Given the description of an element on the screen output the (x, y) to click on. 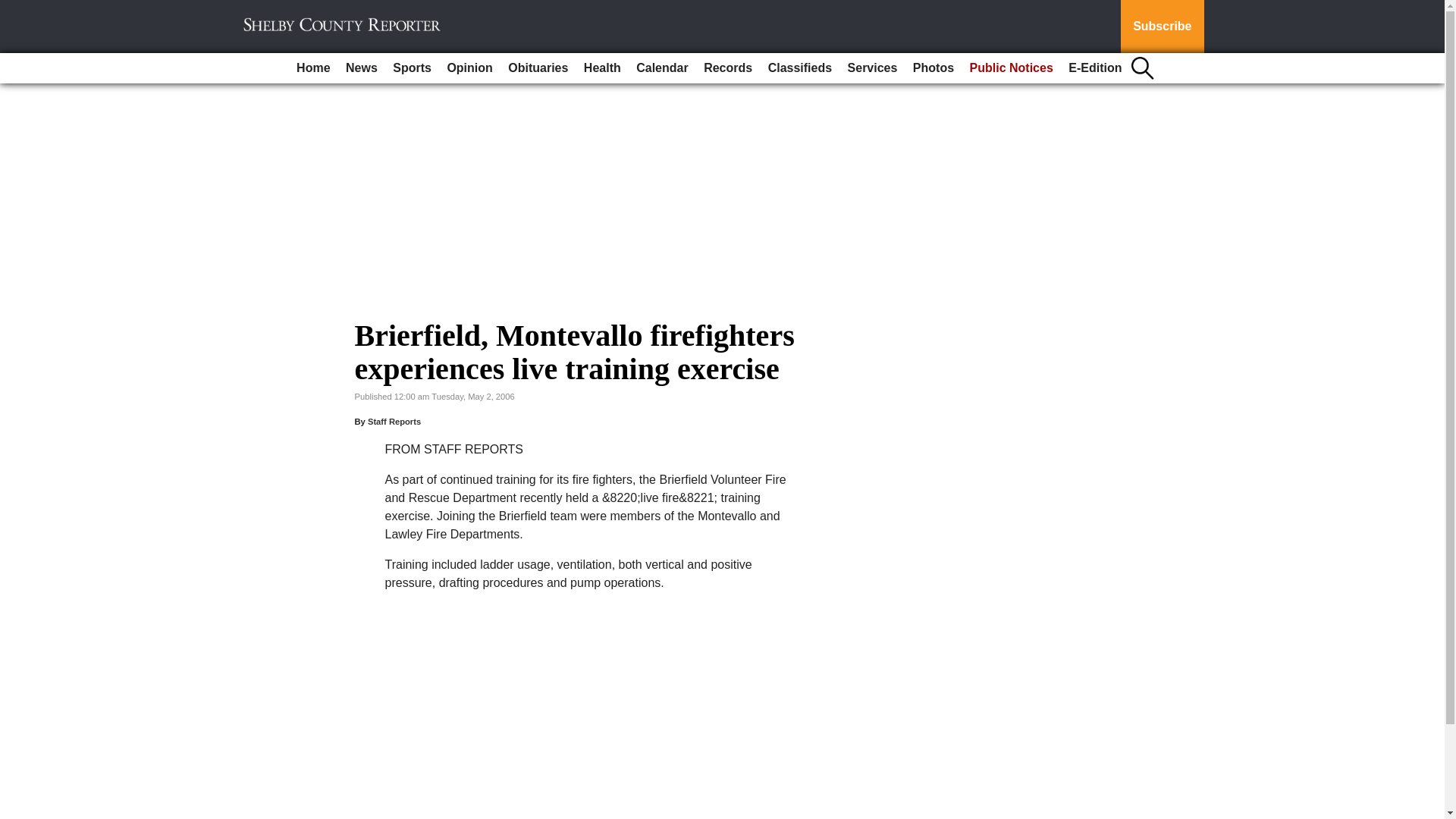
Home (312, 68)
Subscribe (1162, 26)
Health (602, 68)
Calendar (662, 68)
News (361, 68)
Classifieds (799, 68)
Opinion (469, 68)
Sports (412, 68)
Records (727, 68)
Services (872, 68)
